Given the description of an element on the screen output the (x, y) to click on. 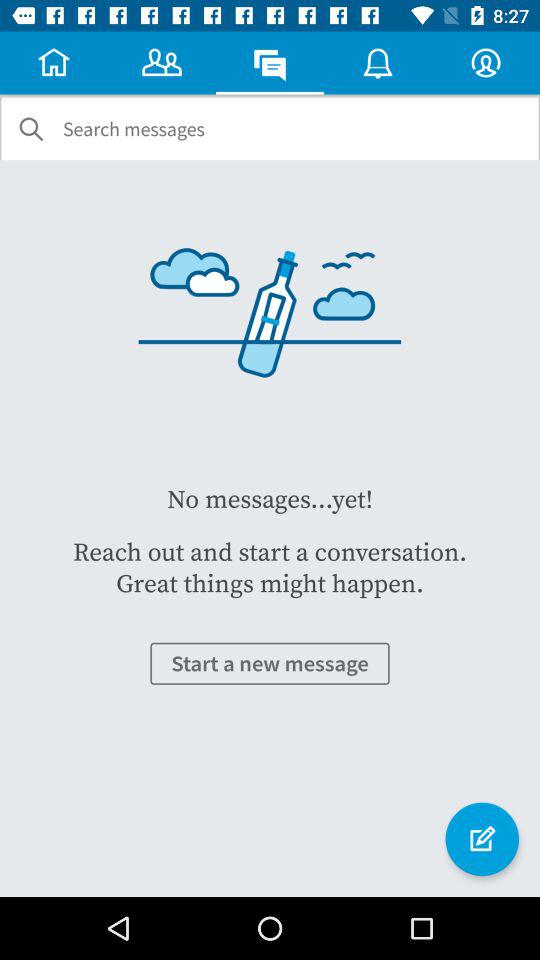
open the icon to the left of the search messages item (31, 129)
